Given the description of an element on the screen output the (x, y) to click on. 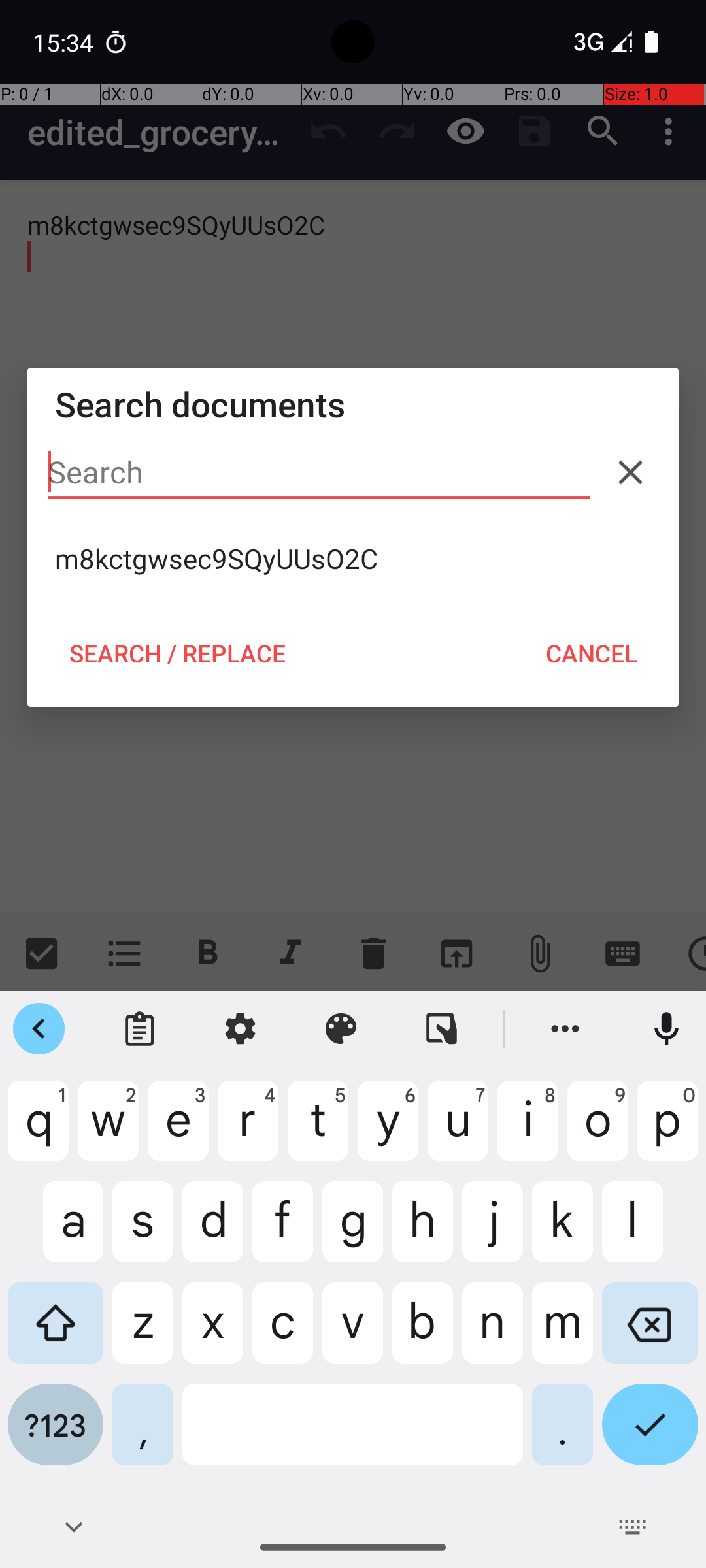
m8kctgwsec9SQyUUsO2C Element type: android.widget.TextView (352, 558)
